Given the description of an element on the screen output the (x, y) to click on. 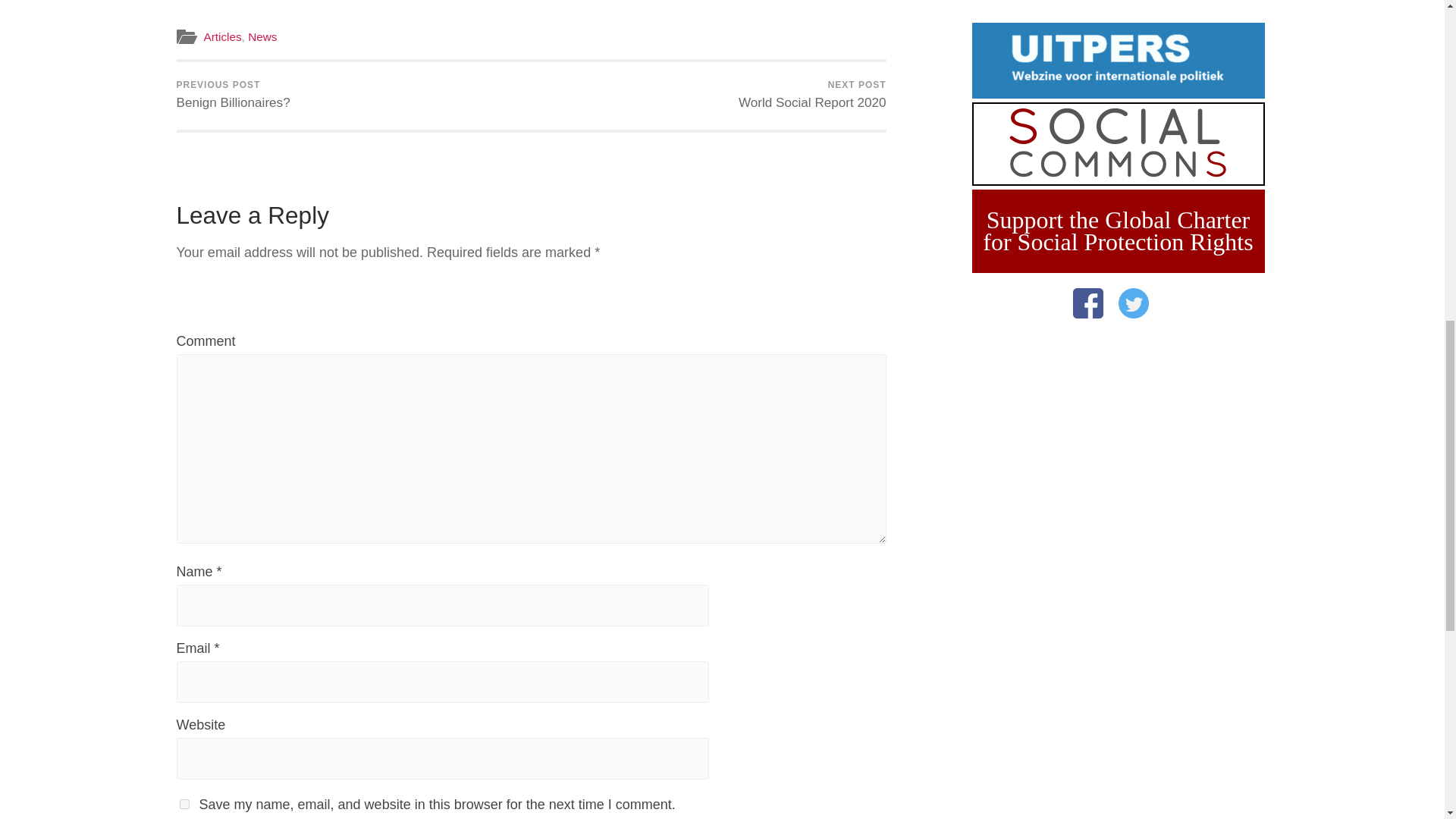
yes (232, 95)
News (184, 804)
Previous post: Benign Billionaires? (261, 36)
Next post: (232, 95)
Articles (811, 95)
